Given the description of an element on the screen output the (x, y) to click on. 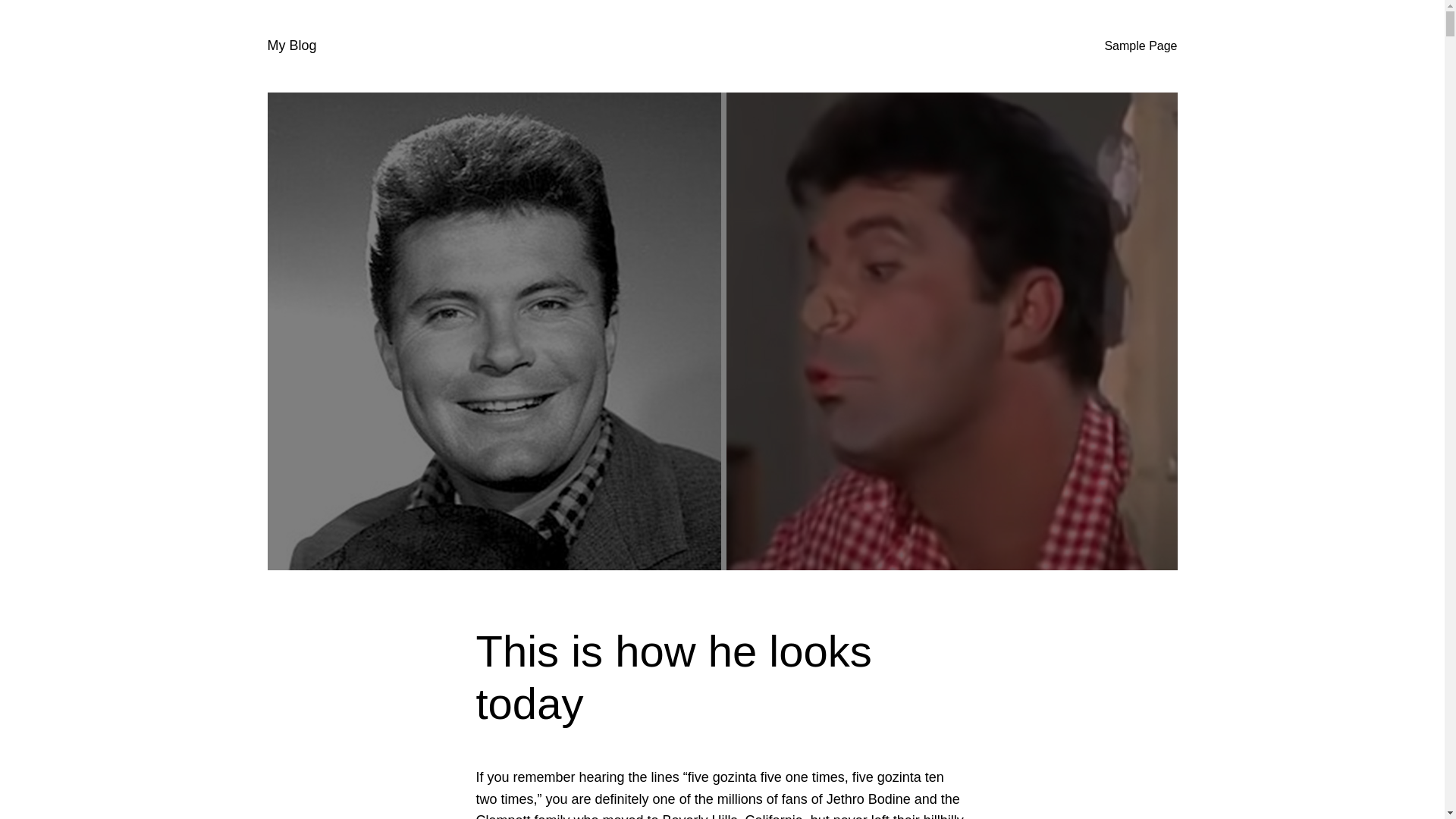
Sample Page (1139, 46)
My Blog (290, 45)
